Given the description of an element on the screen output the (x, y) to click on. 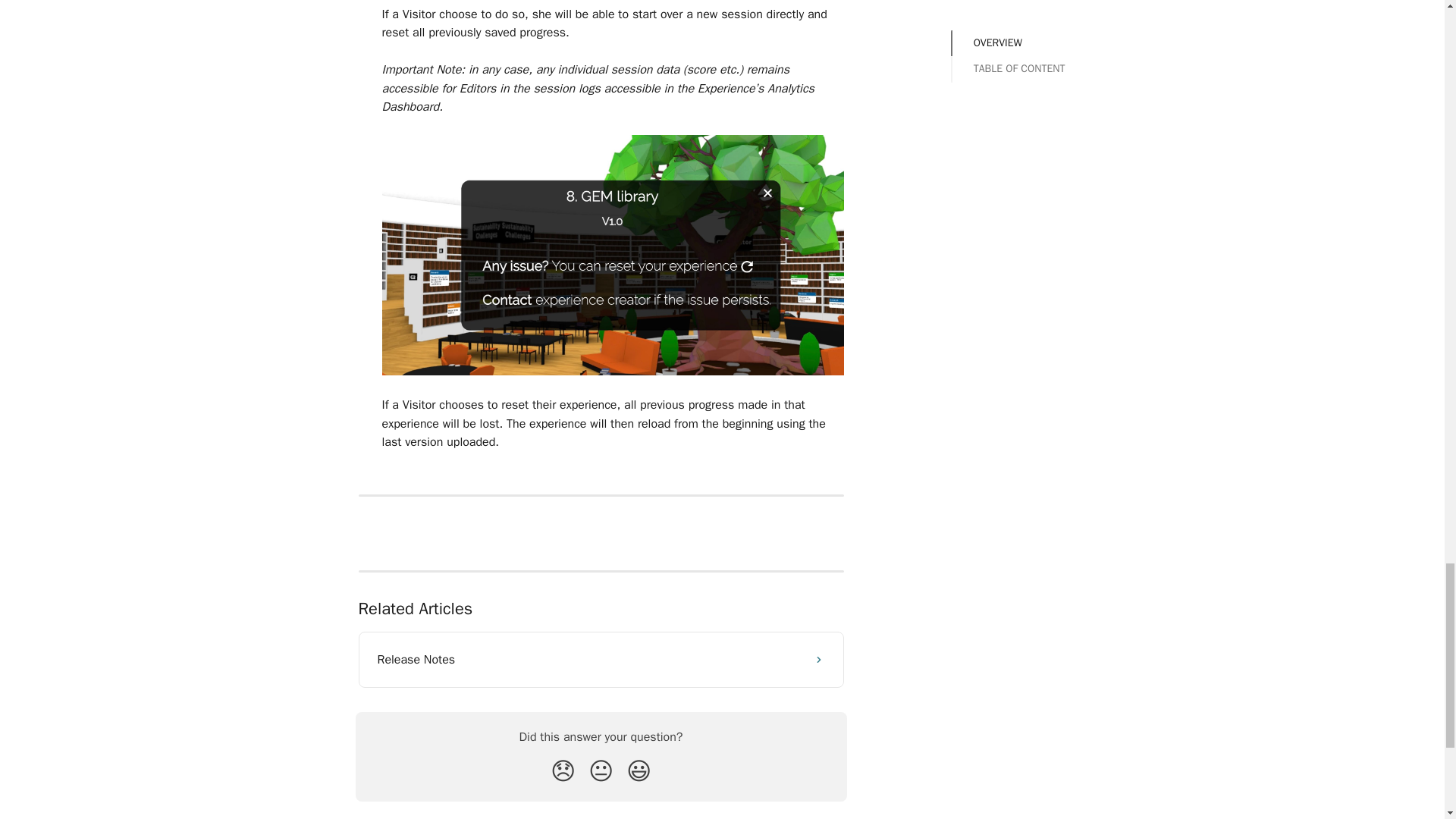
Smiley (638, 771)
Release Notes (601, 659)
Disappointed (562, 771)
Neutral (600, 771)
